Given the description of an element on the screen output the (x, y) to click on. 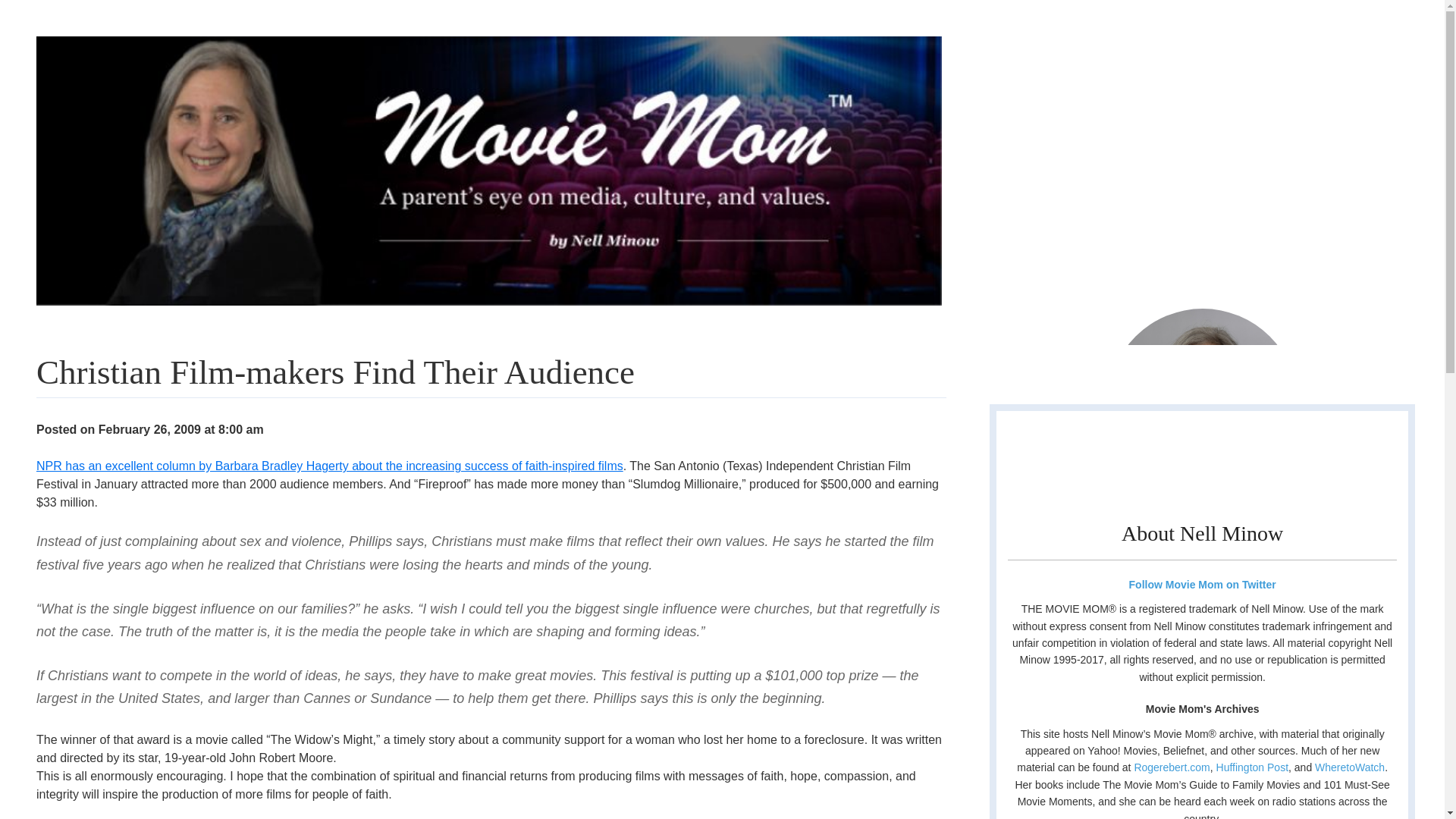
Huffington Post (1251, 767)
WheretoWatch (1349, 767)
Follow Movie Mom on Twitter (1201, 584)
Rogerebert.com (1171, 767)
